Given the description of an element on the screen output the (x, y) to click on. 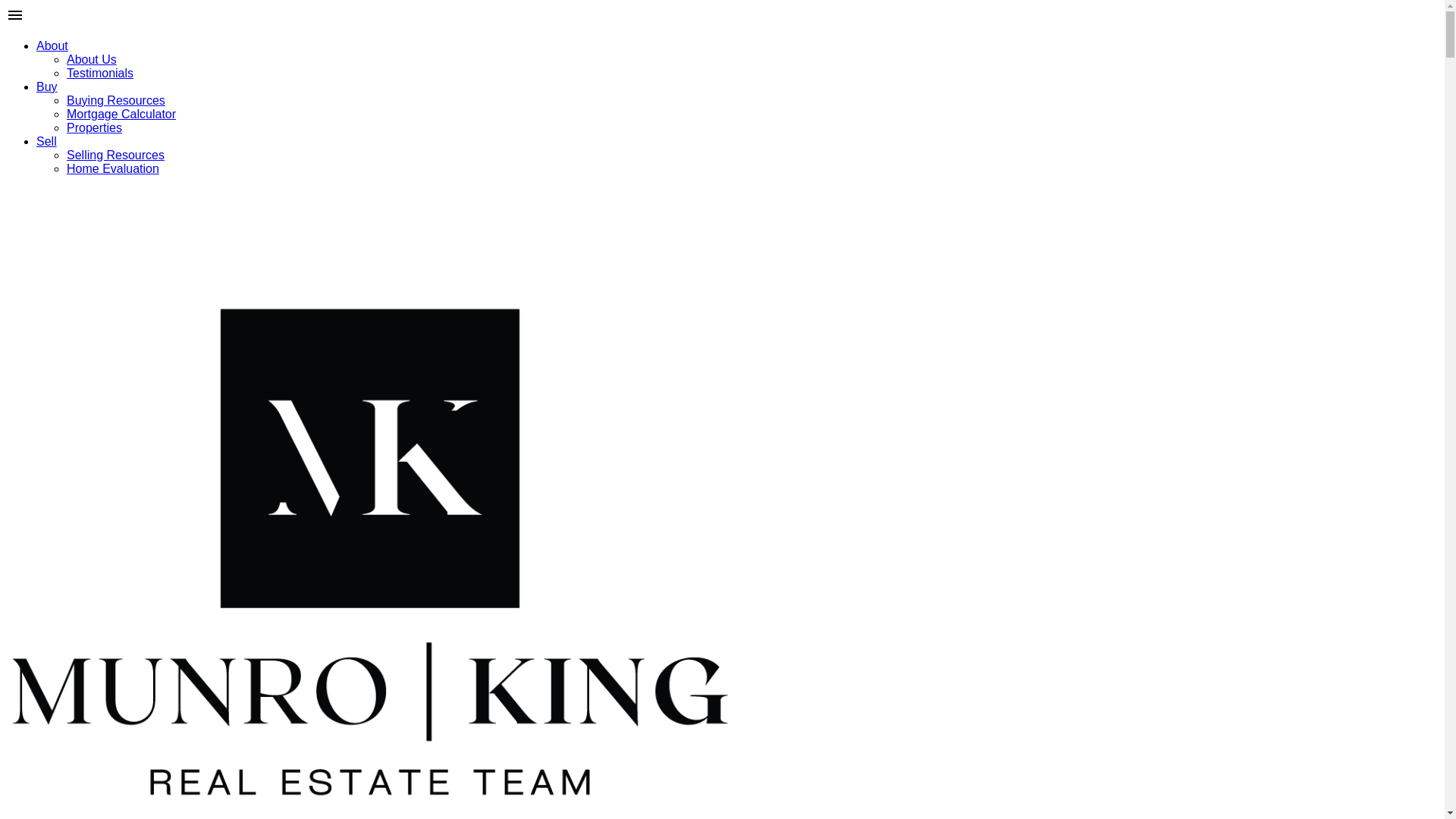
About Us (91, 59)
About (52, 45)
Testimonials (99, 72)
Home Evaluation (112, 168)
Properties (94, 127)
Selling Resources (115, 154)
Mortgage Calculator (121, 113)
Sell (46, 141)
Buy (47, 86)
Buying Resources (115, 100)
